Given the description of an element on the screen output the (x, y) to click on. 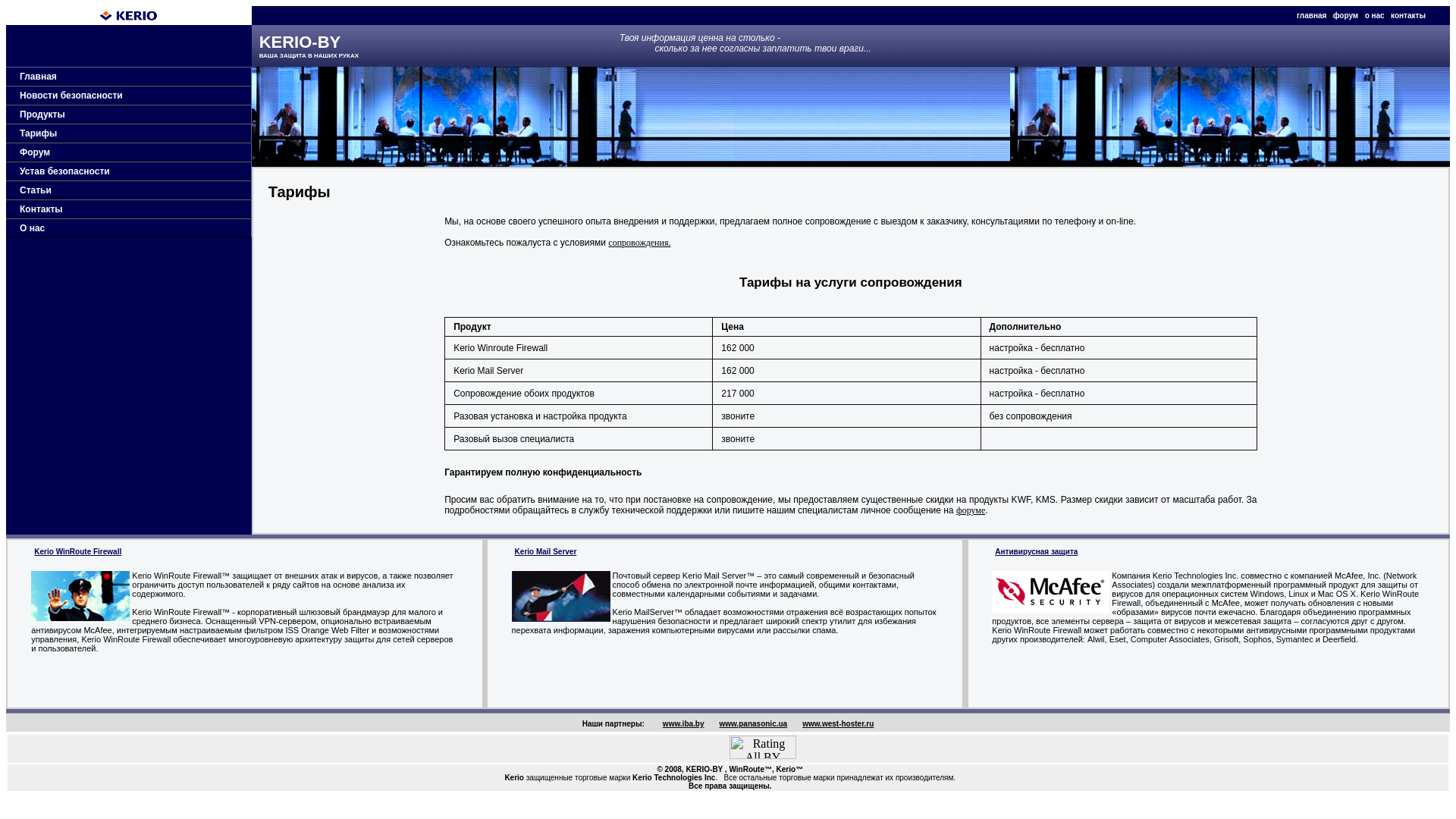
KERIO-BY Element type: text (703, 769)
www.iba.by Element type: text (680, 723)
www.panasonic.ua Element type: text (749, 723)
Kerio WinRoute Firewall Element type: text (77, 551)
Kerio Mail Server Element type: text (545, 551)
LiveInternet Element type: hover (692, 747)
www.west-hoster.ru Element type: text (834, 723)
